Given the description of an element on the screen output the (x, y) to click on. 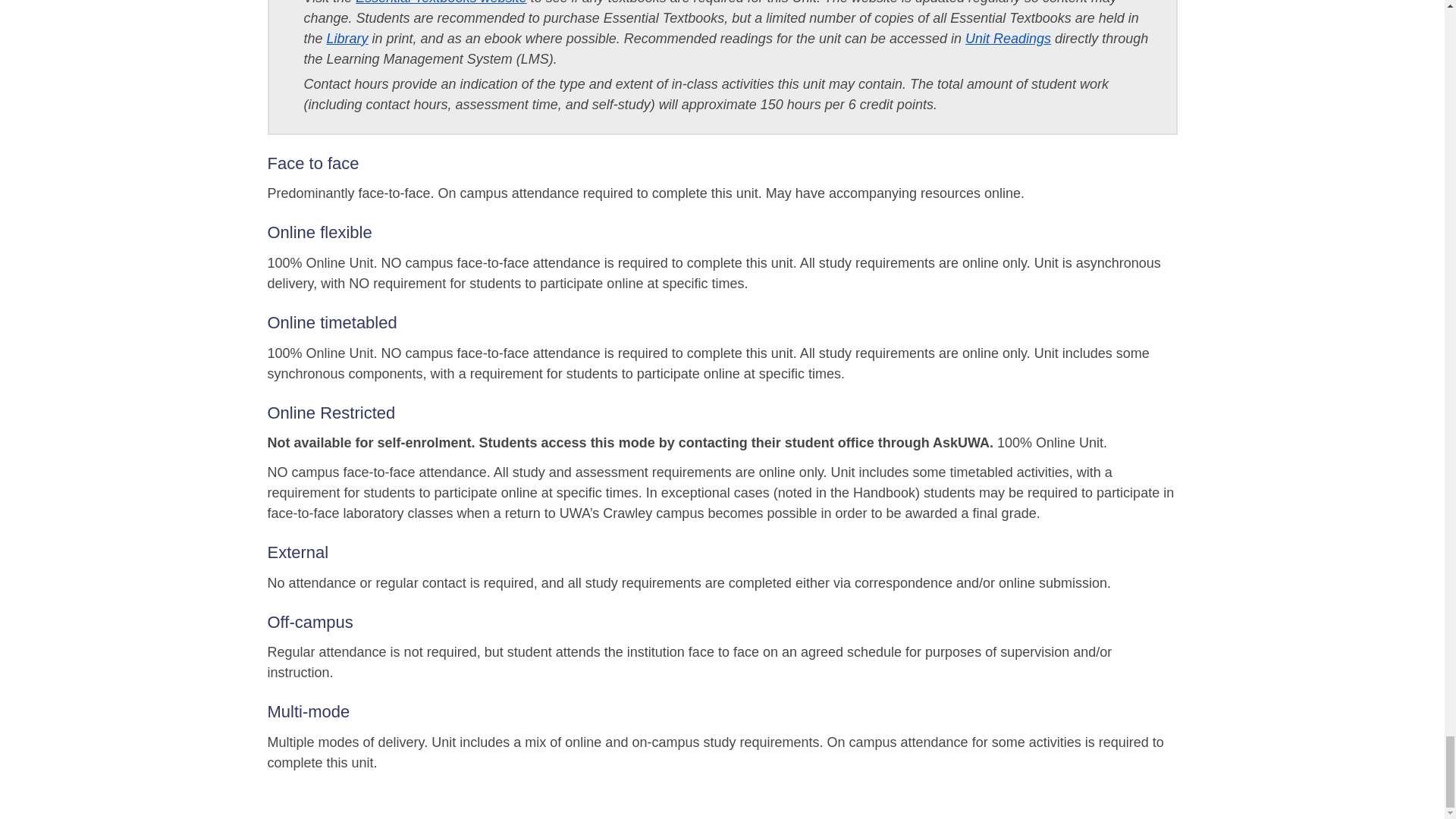
Essential Textbooks website (440, 2)
Unit Readings (1008, 38)
Library (347, 38)
